Given the description of an element on the screen output the (x, y) to click on. 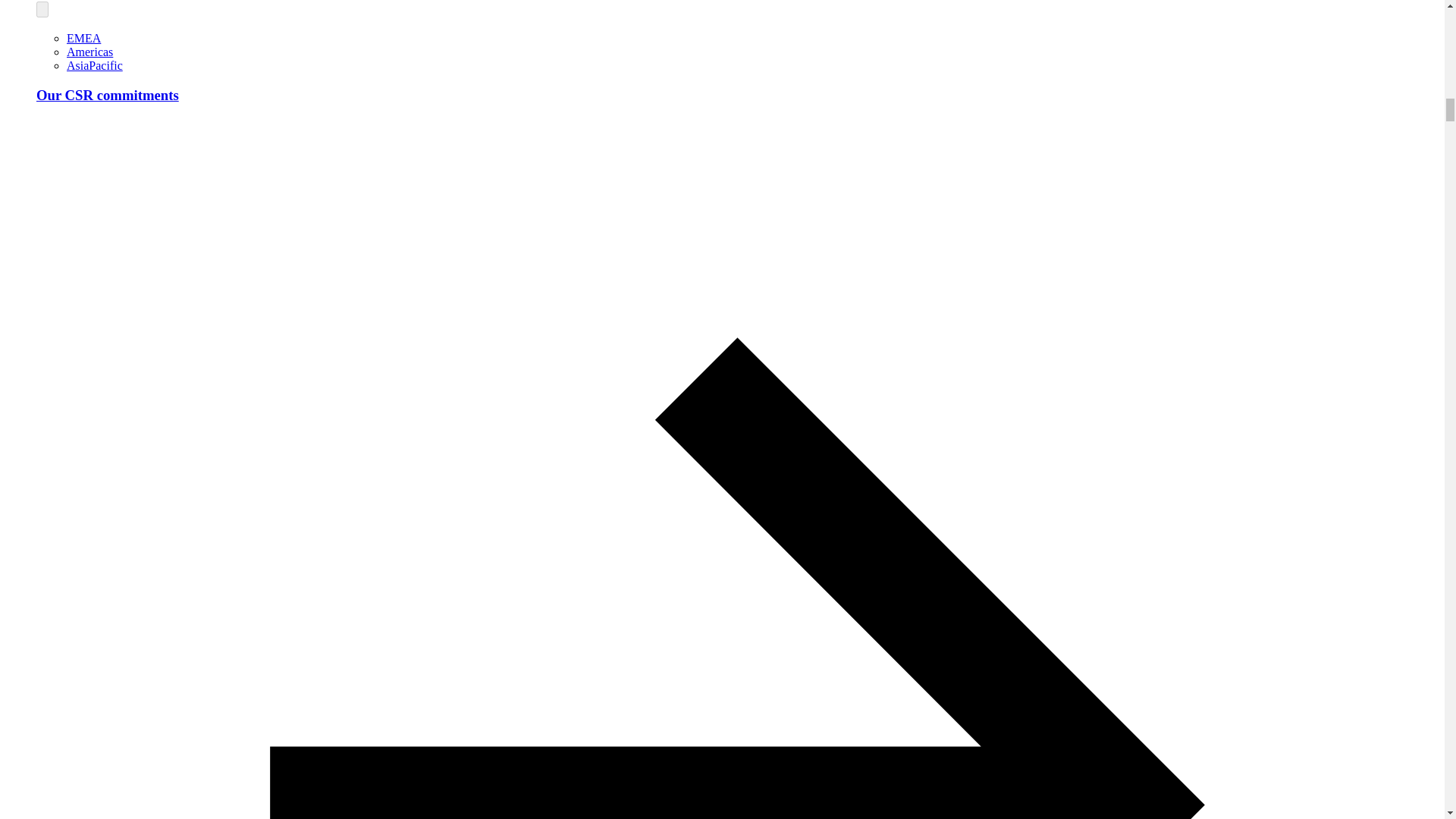
AsiaPacific (94, 65)
Americas (89, 51)
EMEA (83, 38)
